Given the description of an element on the screen output the (x, y) to click on. 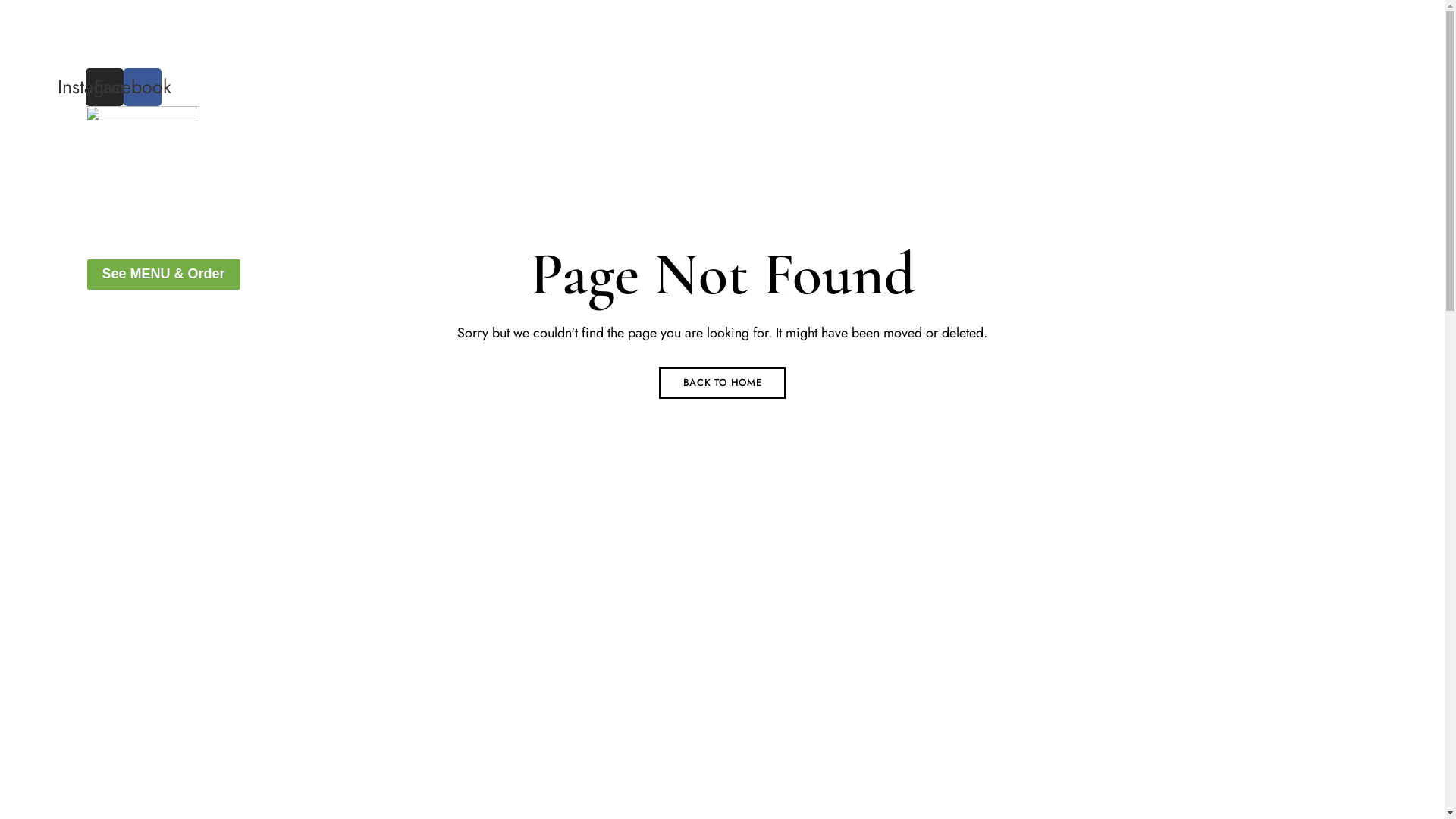
Menu Element type: text (99, 242)
CATERING Element type: text (603, 204)
(613) 823-8860 Element type: text (141, 33)
Facebook Element type: text (141, 87)
605 Longfields Dr Unit 5, Ottawa, ON K2J 6T7 Element type: text (227, 10)
HOME Element type: text (327, 204)
GALLERY Element type: text (674, 204)
OUR STORY Element type: text (394, 204)
BACK TO HOME Element type: text (722, 382)
CONTACT Element type: text (744, 204)
order@ayini.ca Element type: text (139, 55)
Instagram Element type: text (103, 87)
OUR MENU & OFFERS Element type: text (500, 204)
